Given the description of an element on the screen output the (x, y) to click on. 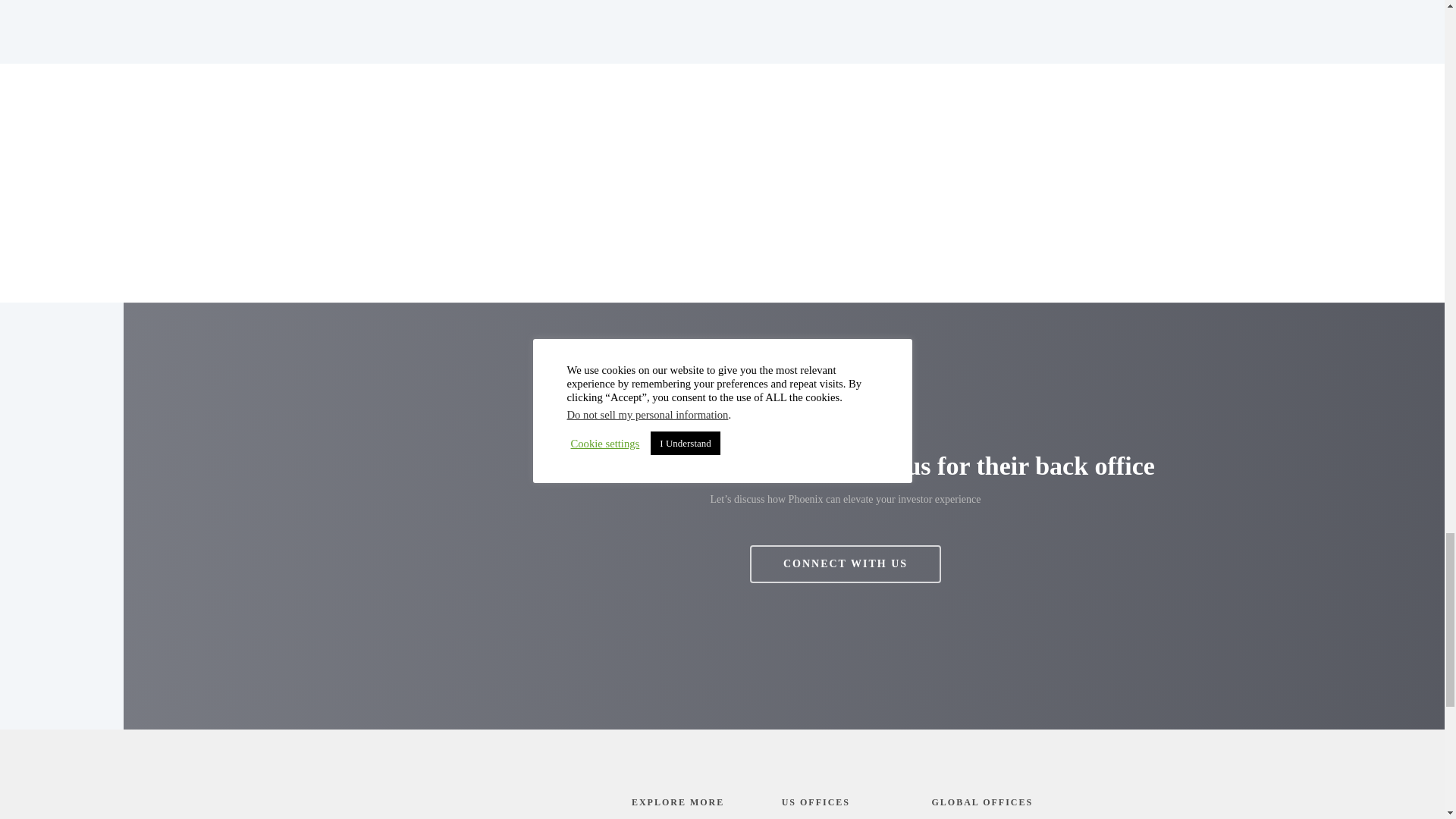
CONNECT WITH US (844, 564)
